Given the description of an element on the screen output the (x, y) to click on. 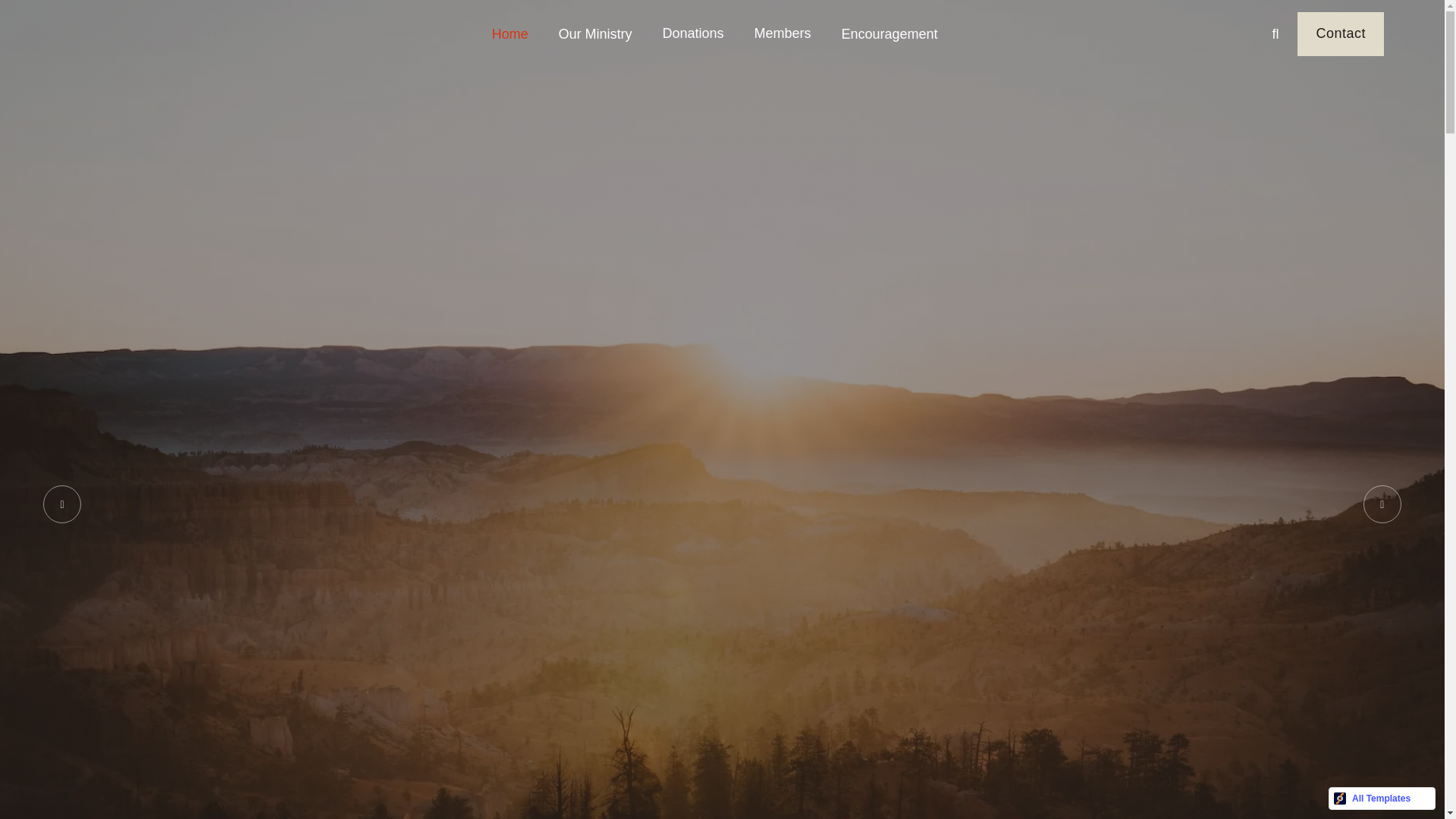
Donations (692, 33)
Home (509, 33)
Members (781, 33)
Contact (1340, 34)
